Given the description of an element on the screen output the (x, y) to click on. 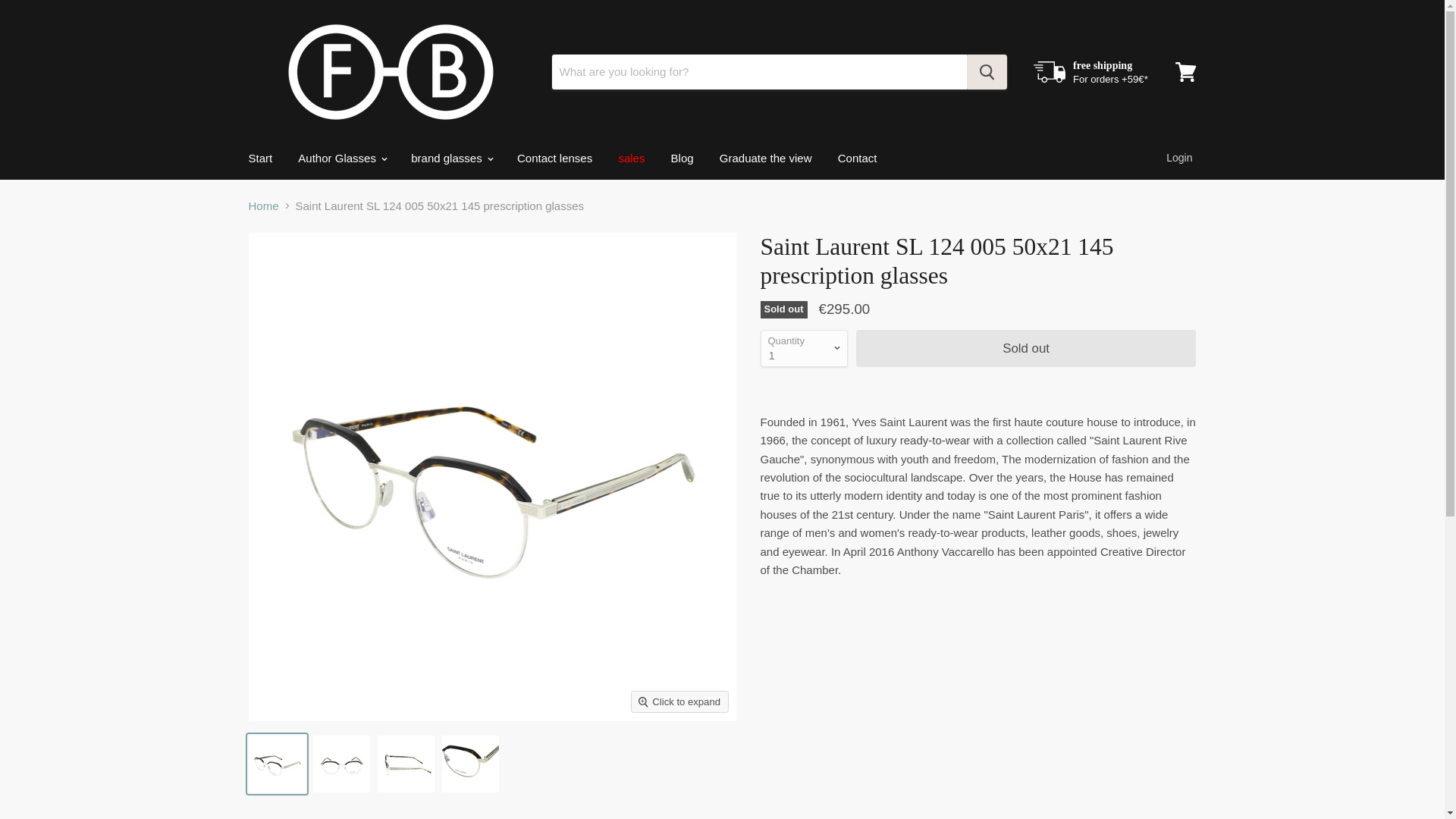
Author Glasses (341, 157)
Start (259, 157)
View cart (1185, 71)
brand glasses (450, 157)
